Given the description of an element on the screen output the (x, y) to click on. 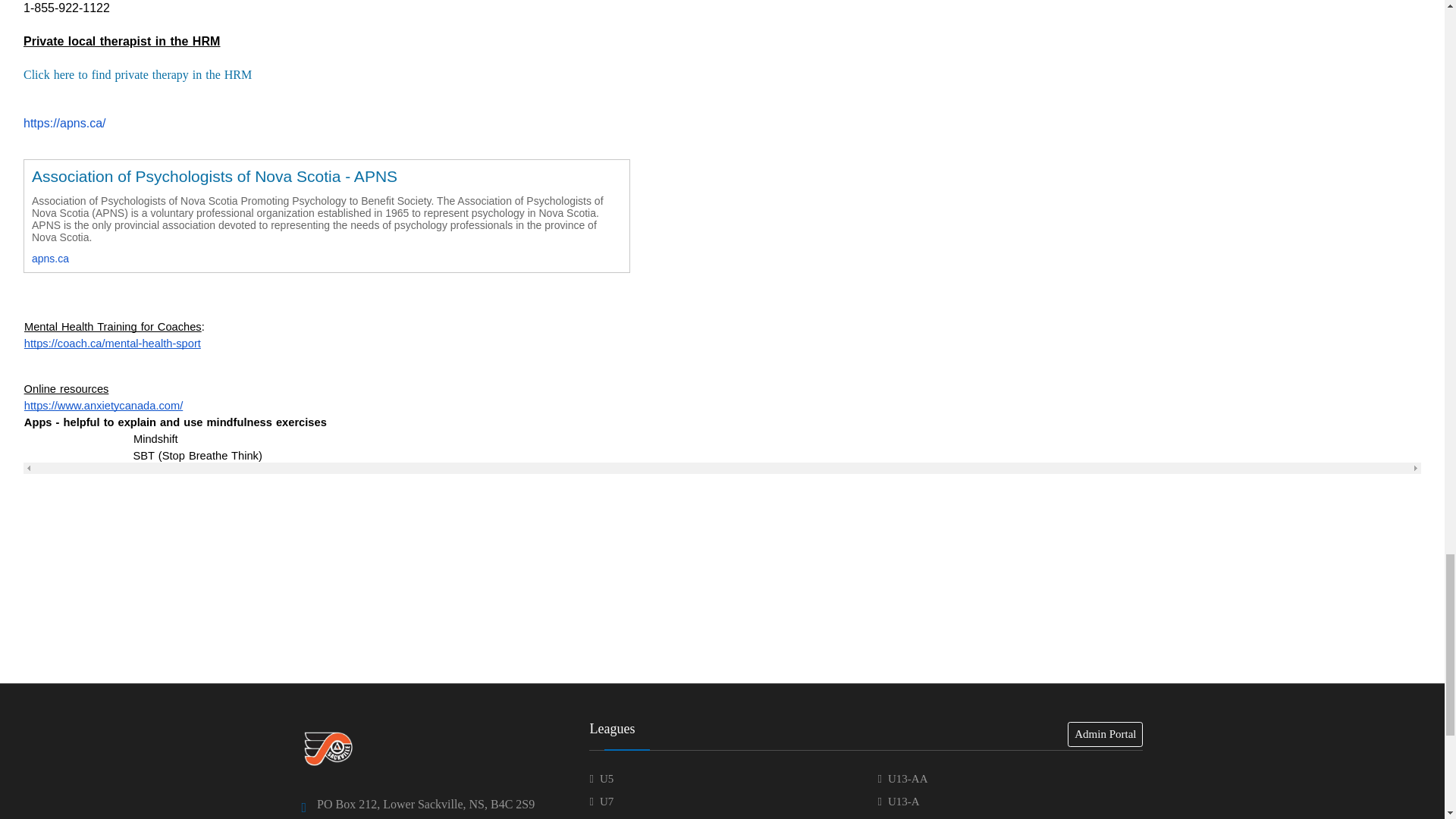
Advertisement (721, 615)
